Given the description of an element on the screen output the (x, y) to click on. 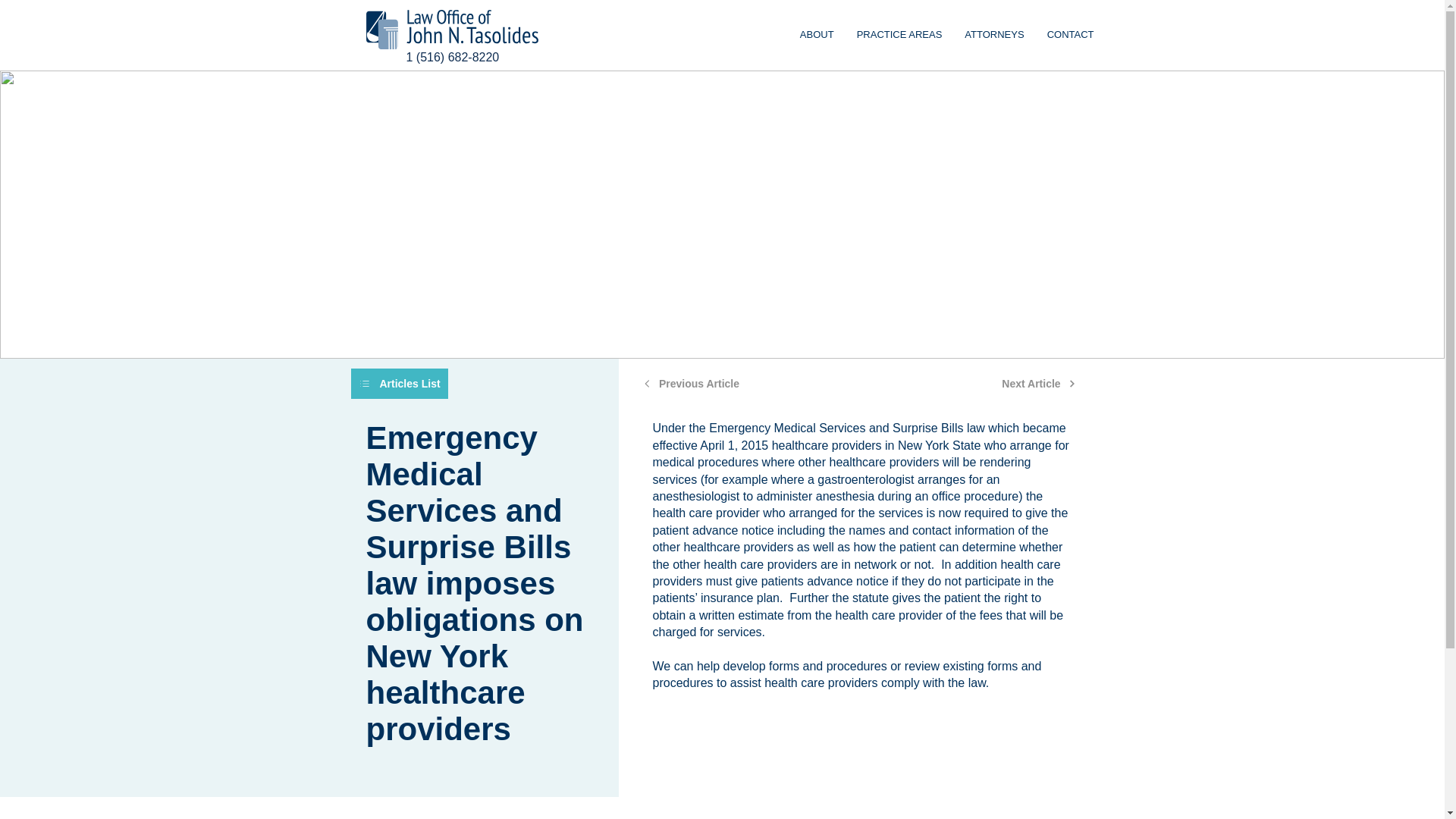
PRACTICE AREAS (899, 35)
Previous Article (691, 383)
ATTORNEYS (993, 35)
ABOUT (862, 35)
CONTACT (816, 35)
Next Article (1070, 35)
Articles List (1039, 383)
